Given the description of an element on the screen output the (x, y) to click on. 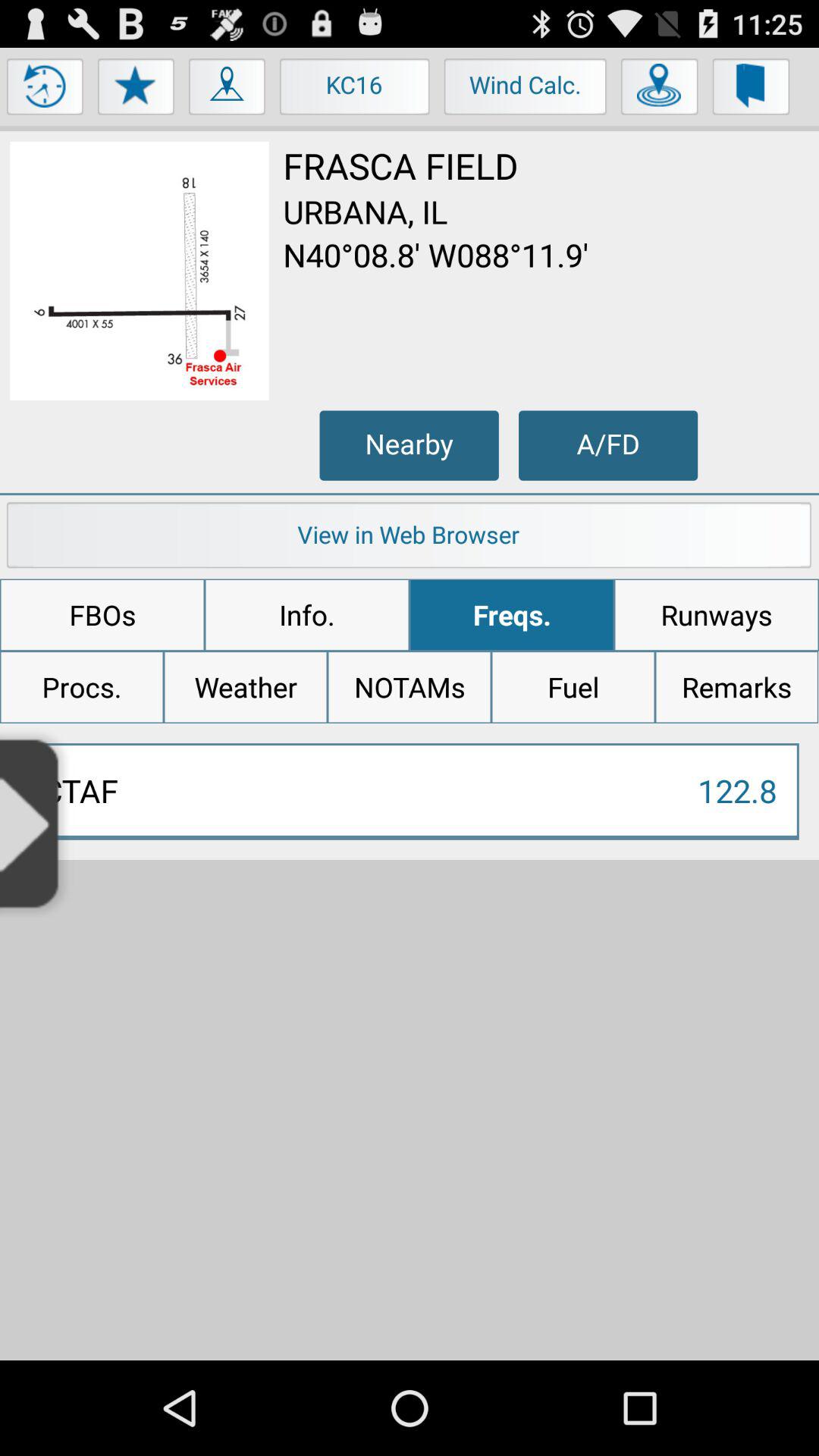
refresh (45, 90)
